Given the description of an element on the screen output the (x, y) to click on. 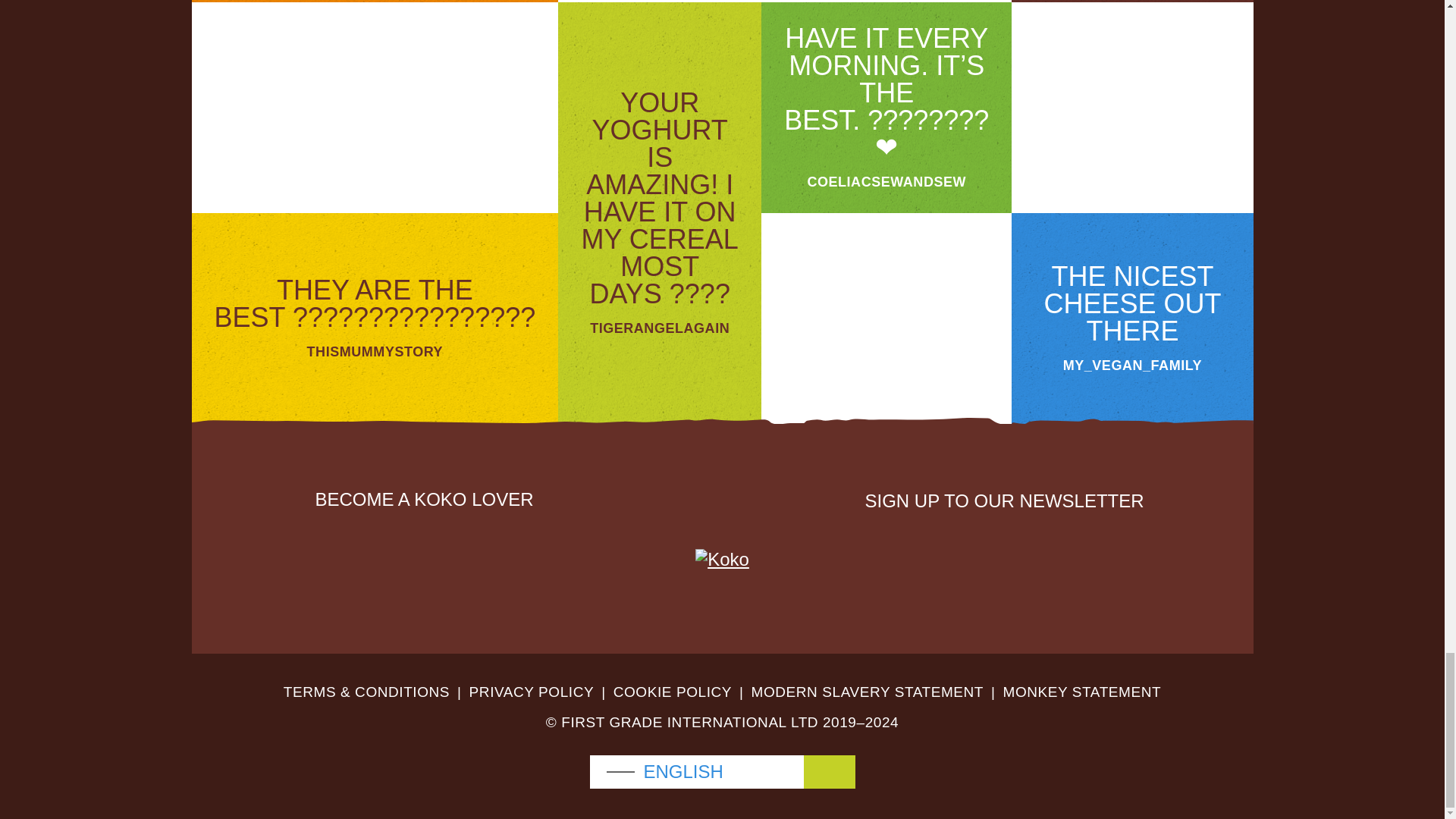
MODERN SLAVERY STATEMENT (867, 691)
PRIVACY POLICY (531, 691)
COOKIE POLICY (672, 691)
SUBMIT (1119, 548)
ENGLISH (722, 771)
MONKEY STATEMENT (1082, 691)
